Given the description of an element on the screen output the (x, y) to click on. 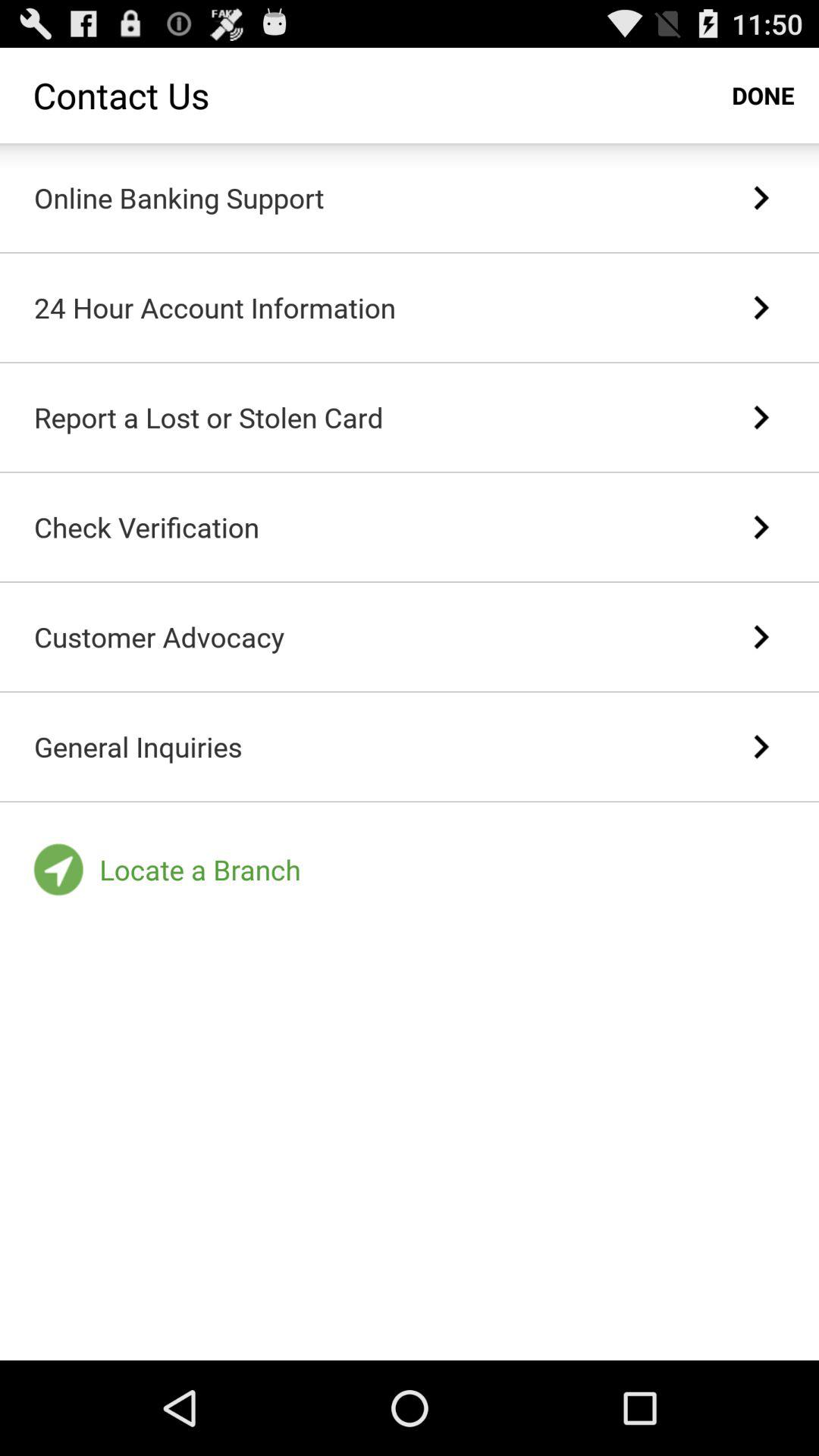
select the report a lost item (208, 417)
